Given the description of an element on the screen output the (x, y) to click on. 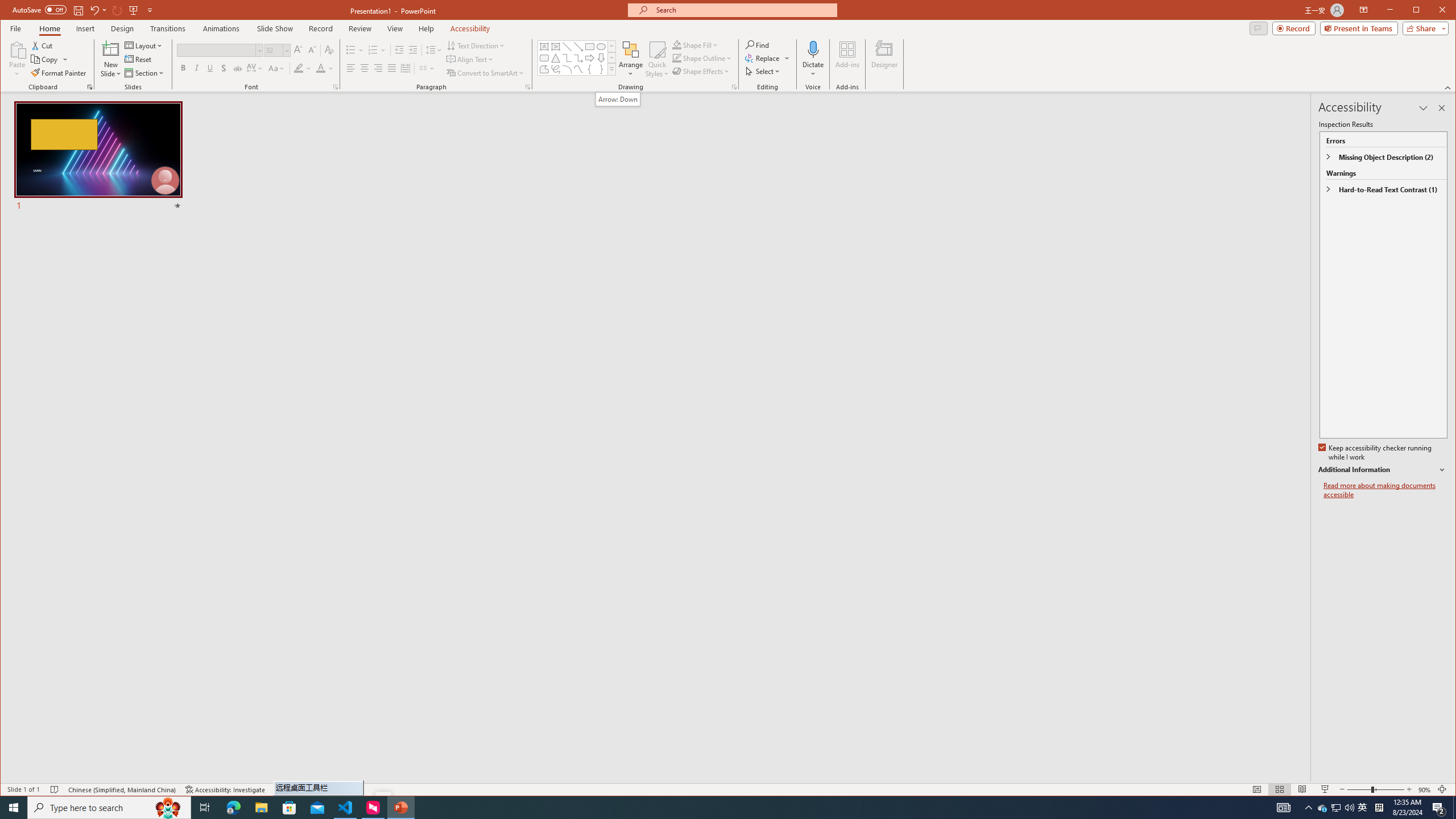
Font Color Red (320, 68)
Font... (335, 86)
Clear Formatting (328, 49)
Underline (209, 68)
Convert to SmartArt (485, 72)
Maximize (1432, 11)
